Given the description of an element on the screen output the (x, y) to click on. 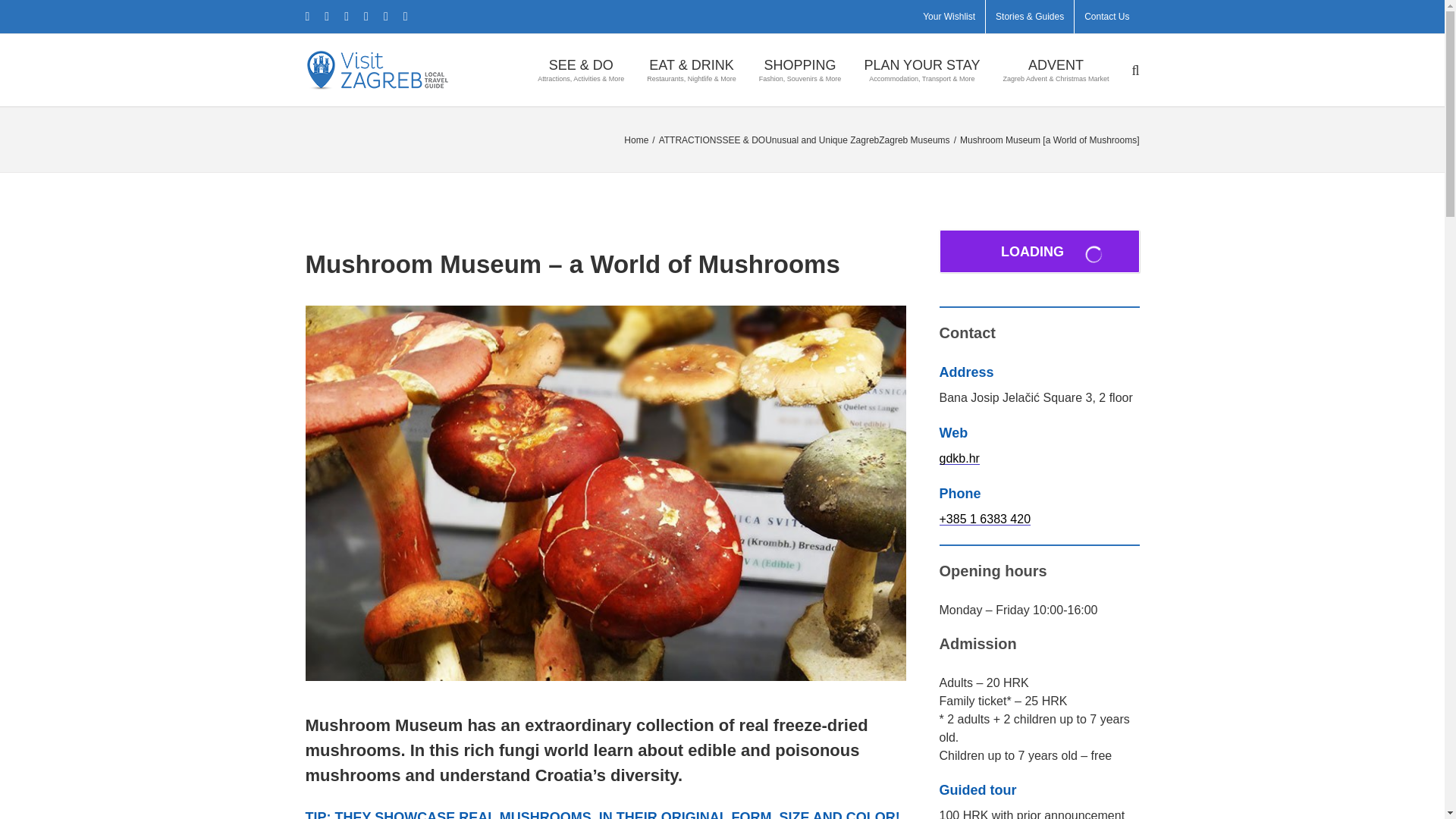
Contact Us (1106, 16)
Your Wishlist (948, 16)
What to See and Do in Zagreb (580, 69)
